Given the description of an element on the screen output the (x, y) to click on. 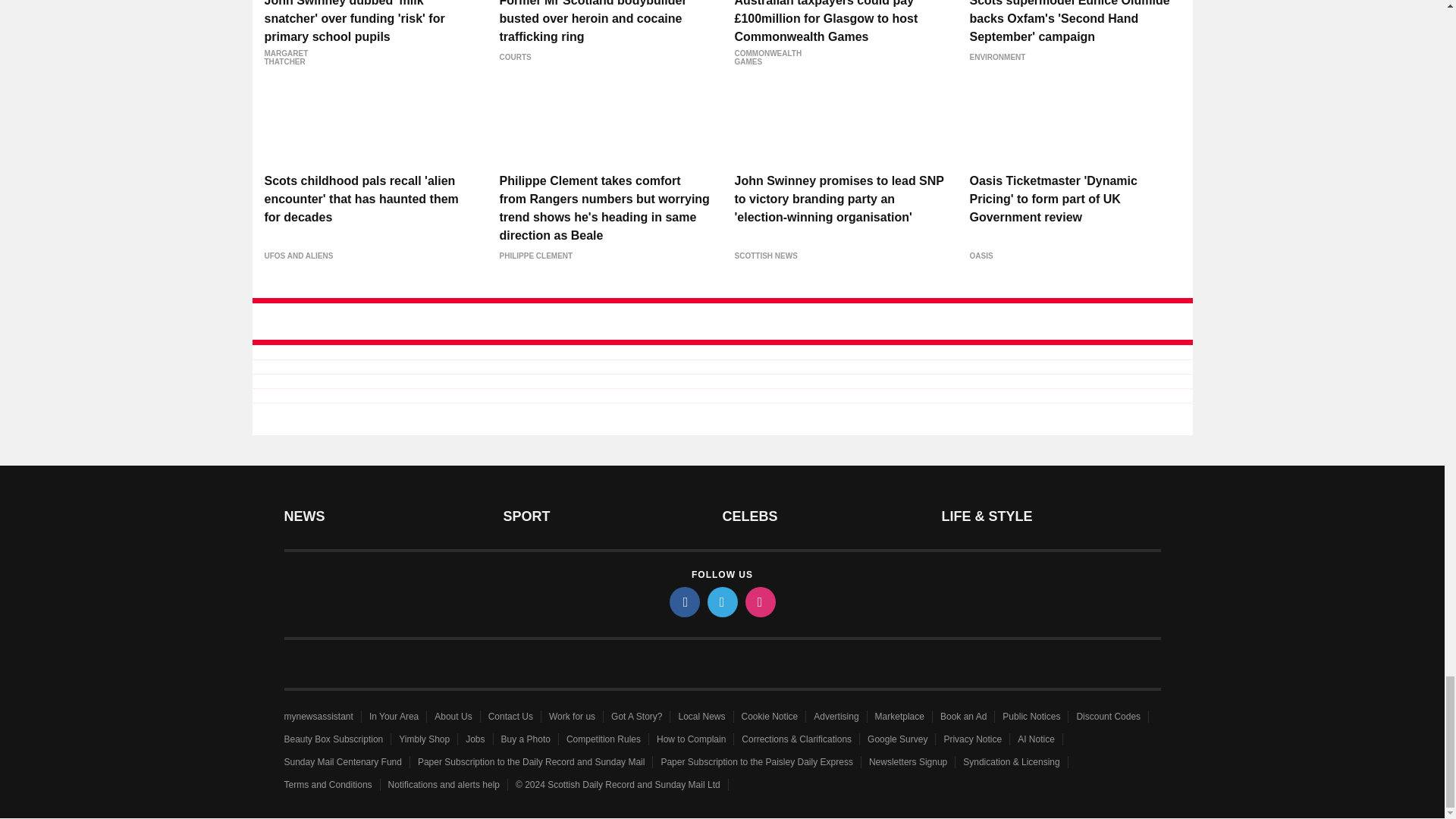
facebook (683, 602)
twitter (721, 602)
instagram (759, 602)
